Given the description of an element on the screen output the (x, y) to click on. 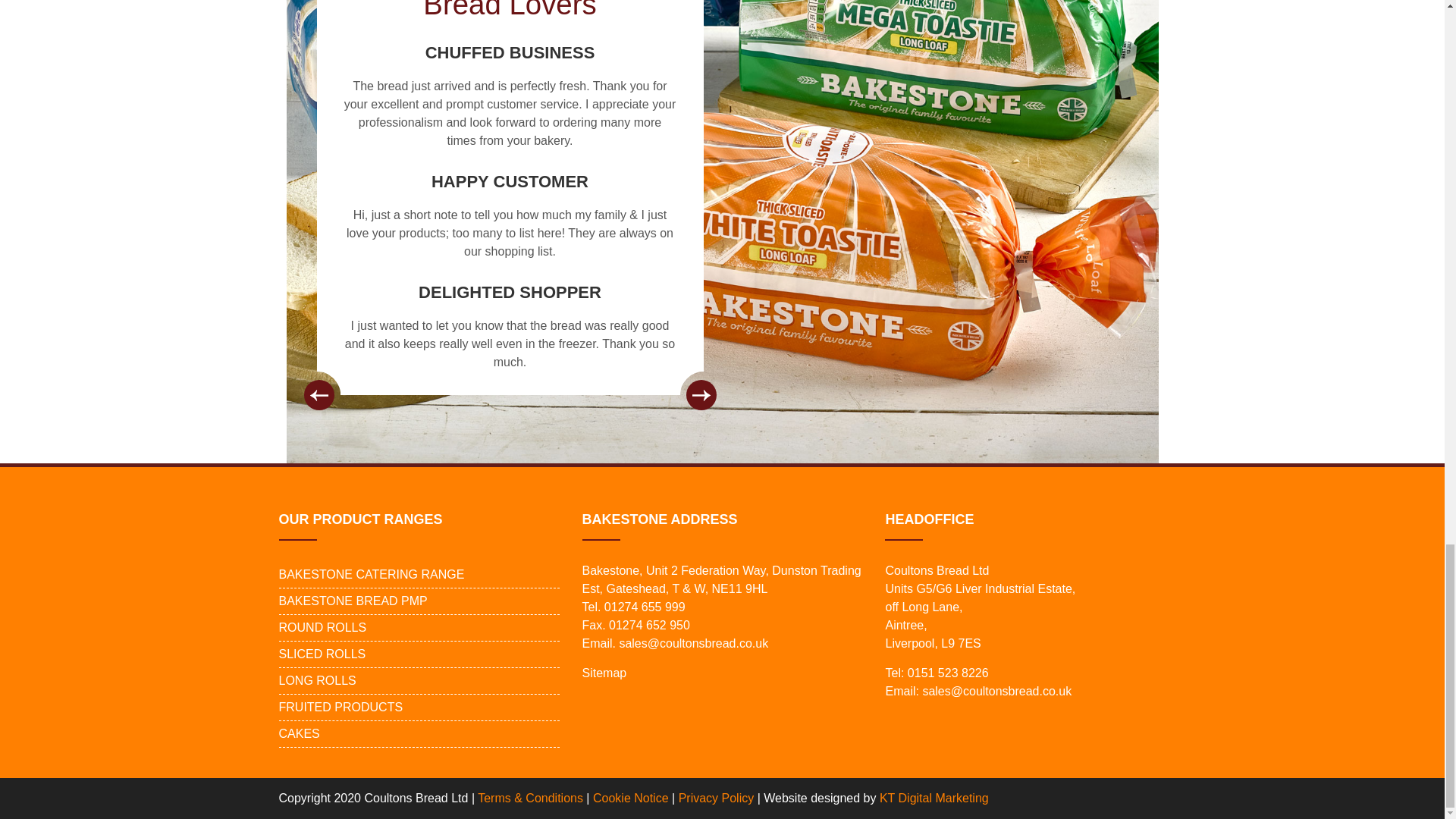
CAKES (299, 733)
SLICED ROLLS (322, 654)
BAKESTONE BREAD PMP (353, 601)
BAKESTONE CATERING RANGE (371, 574)
ROUND ROLLS (322, 627)
01274 655 999 (644, 606)
FRUITED PRODUCTS (341, 707)
LONG ROLLS (317, 680)
01274 652 950 (649, 625)
